Given the description of an element on the screen output the (x, y) to click on. 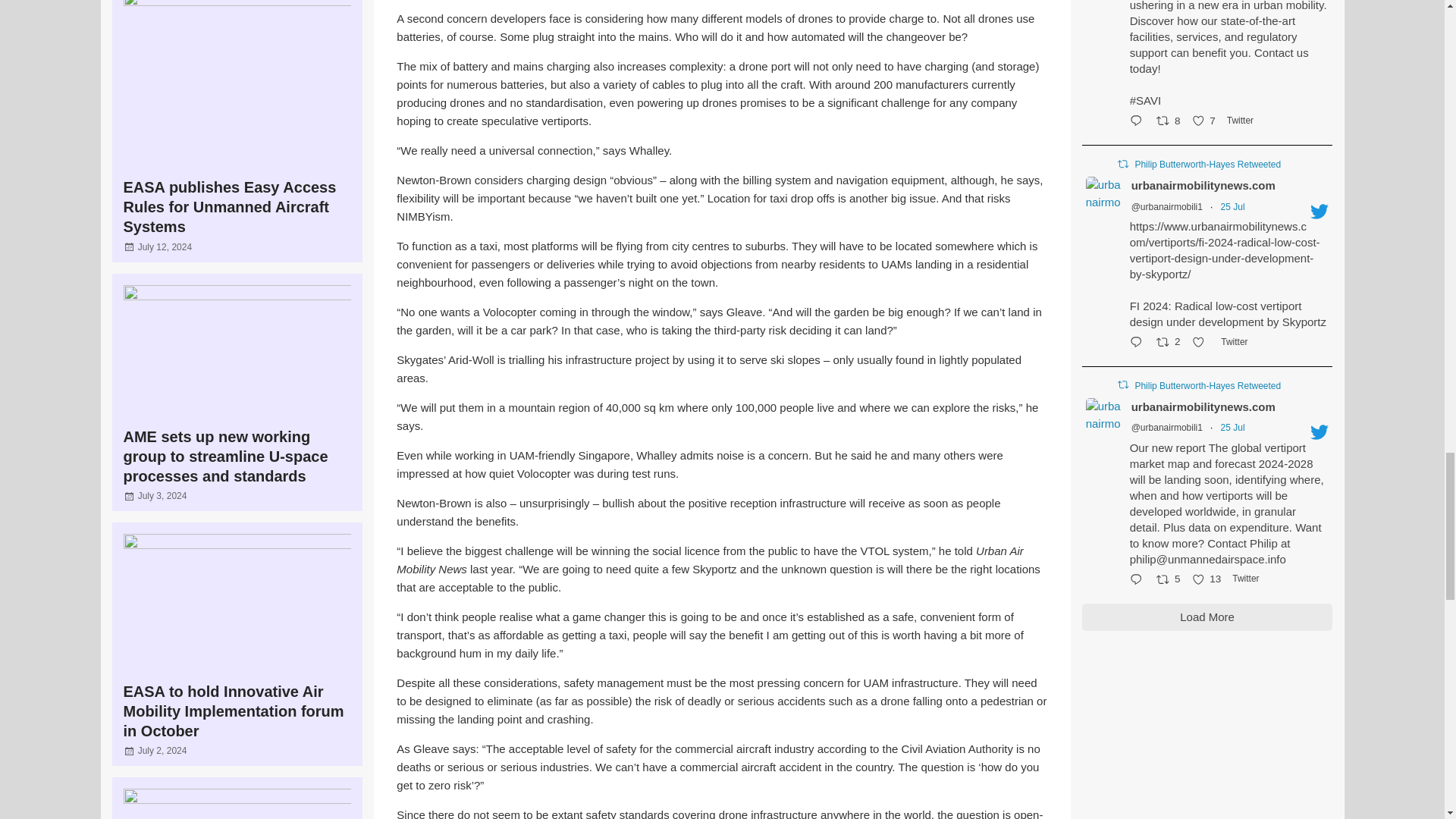
8:22 am (165, 246)
12:16 pm (162, 750)
6:58 pm (162, 495)
